Given the description of an element on the screen output the (x, y) to click on. 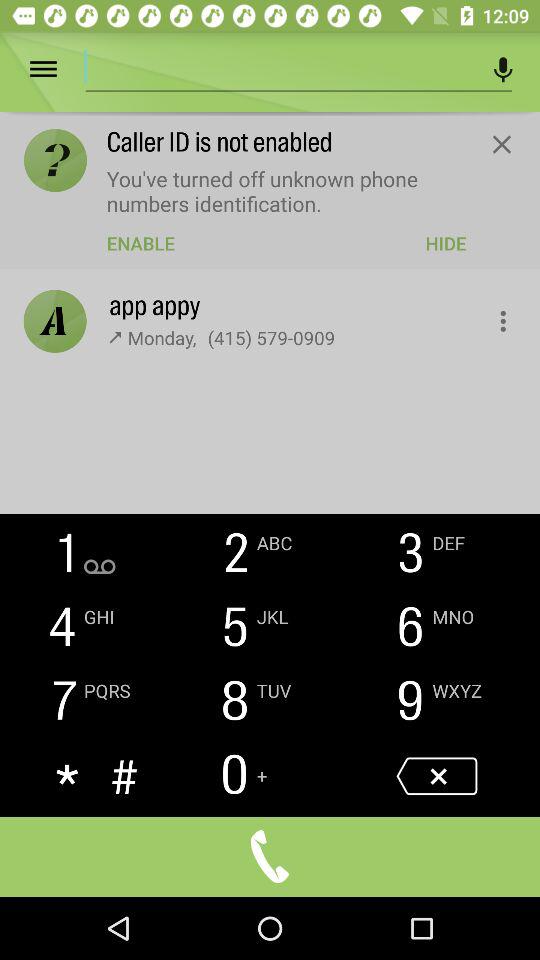
more options (492, 315)
